Given the description of an element on the screen output the (x, y) to click on. 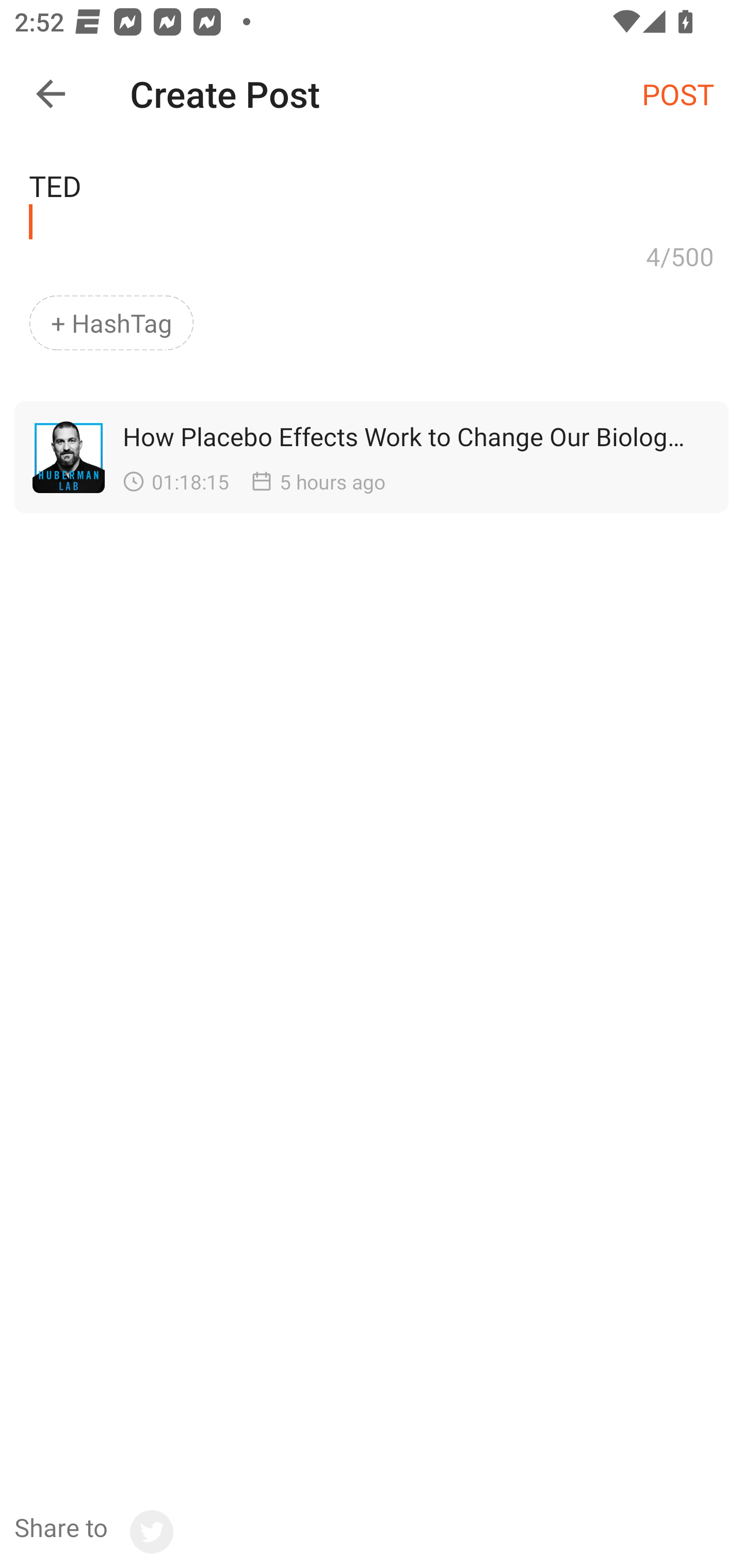
Navigate up (50, 93)
POST (677, 92)
TED
 (371, 191)
+ HashTag (110, 322)
Share to (93, 1531)
